Given the description of an element on the screen output the (x, y) to click on. 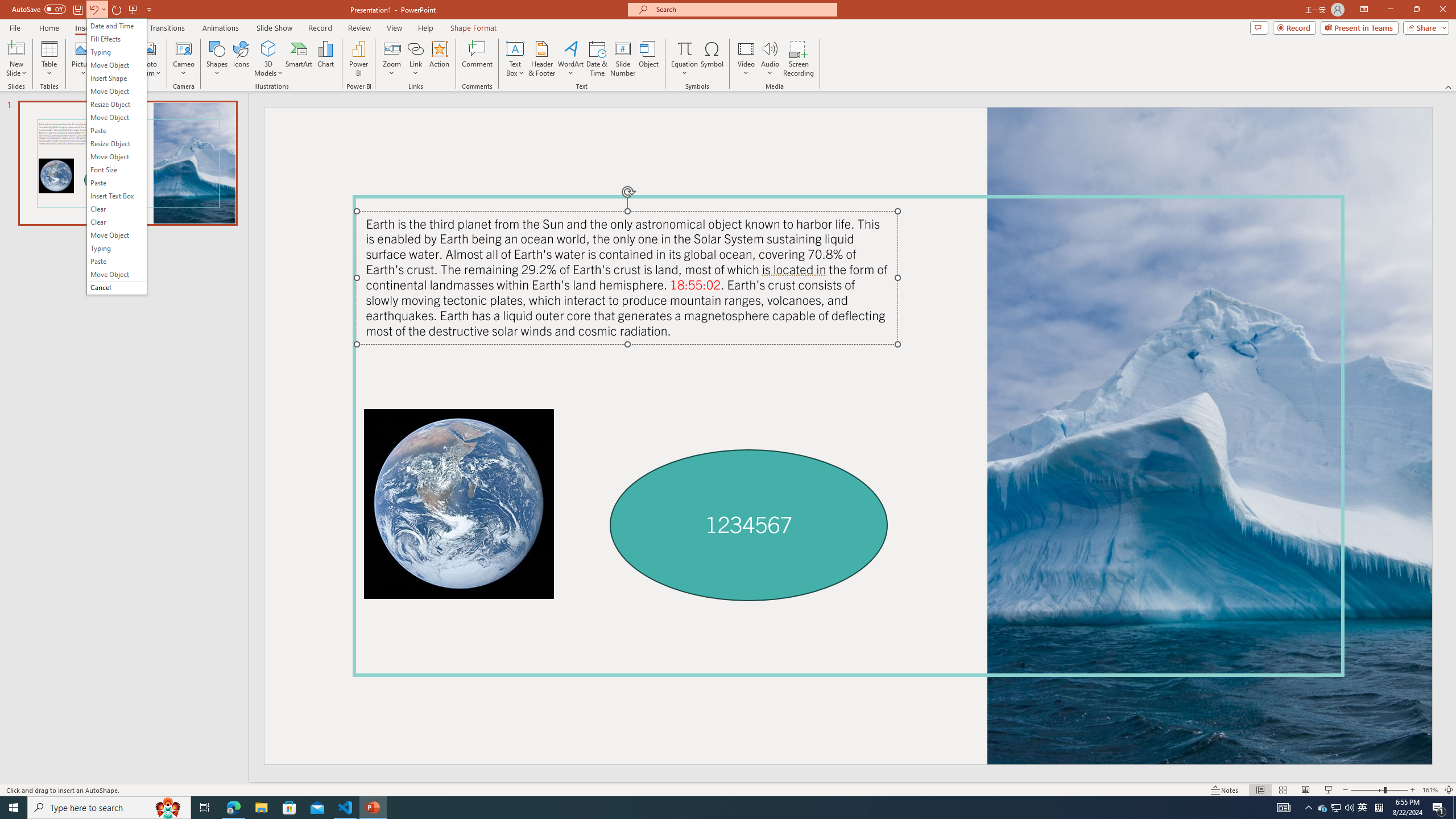
Restore Down (1416, 9)
AutoSave (38, 9)
Running applications (1362, 807)
Zoom 161% (700, 807)
Start (1322, 807)
Zoom In (1430, 790)
New Slide (13, 807)
Class: MsoCommandBar (1412, 790)
Video (16, 58)
